Given the description of an element on the screen output the (x, y) to click on. 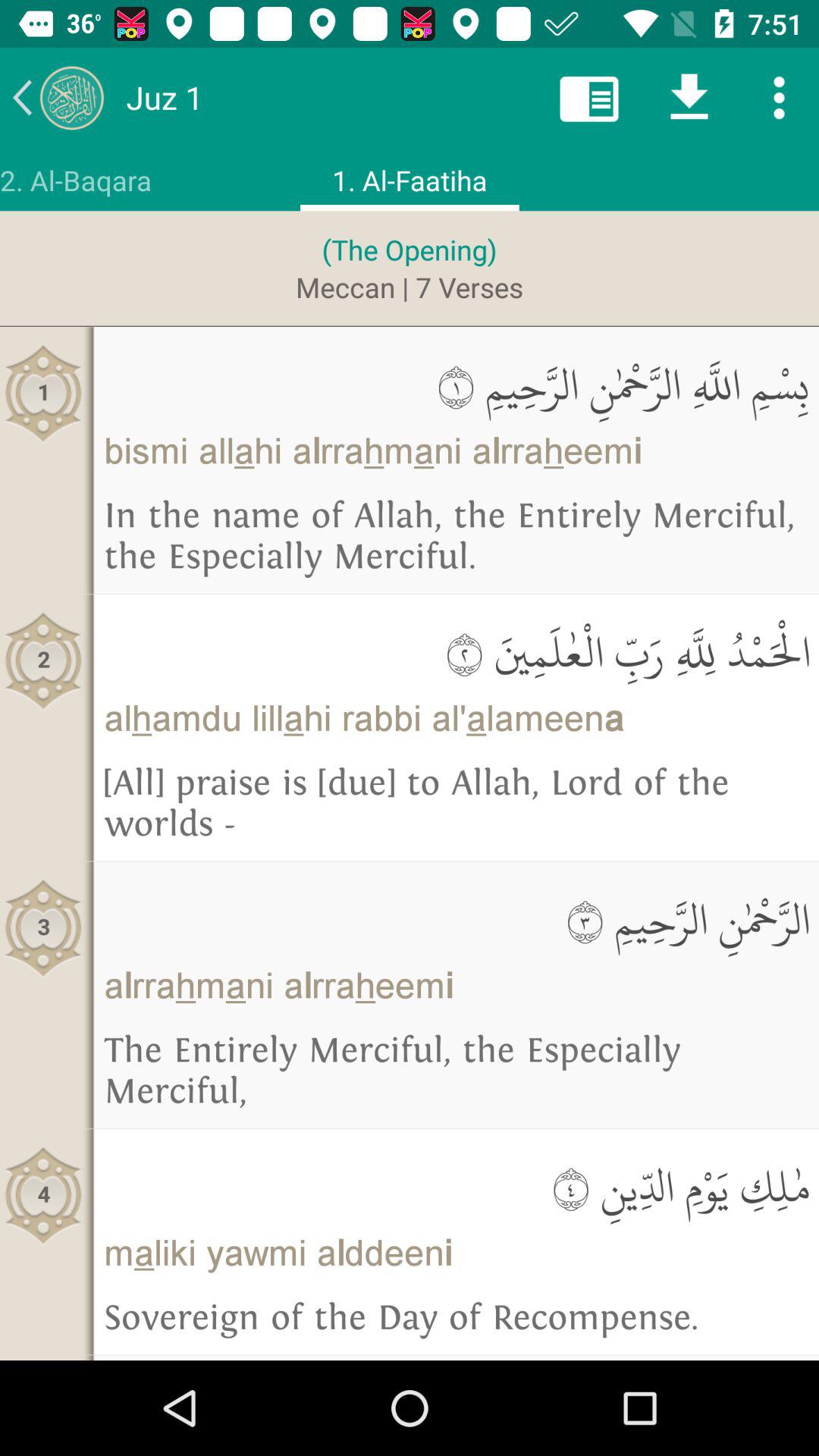
download (689, 97)
